Given the description of an element on the screen output the (x, y) to click on. 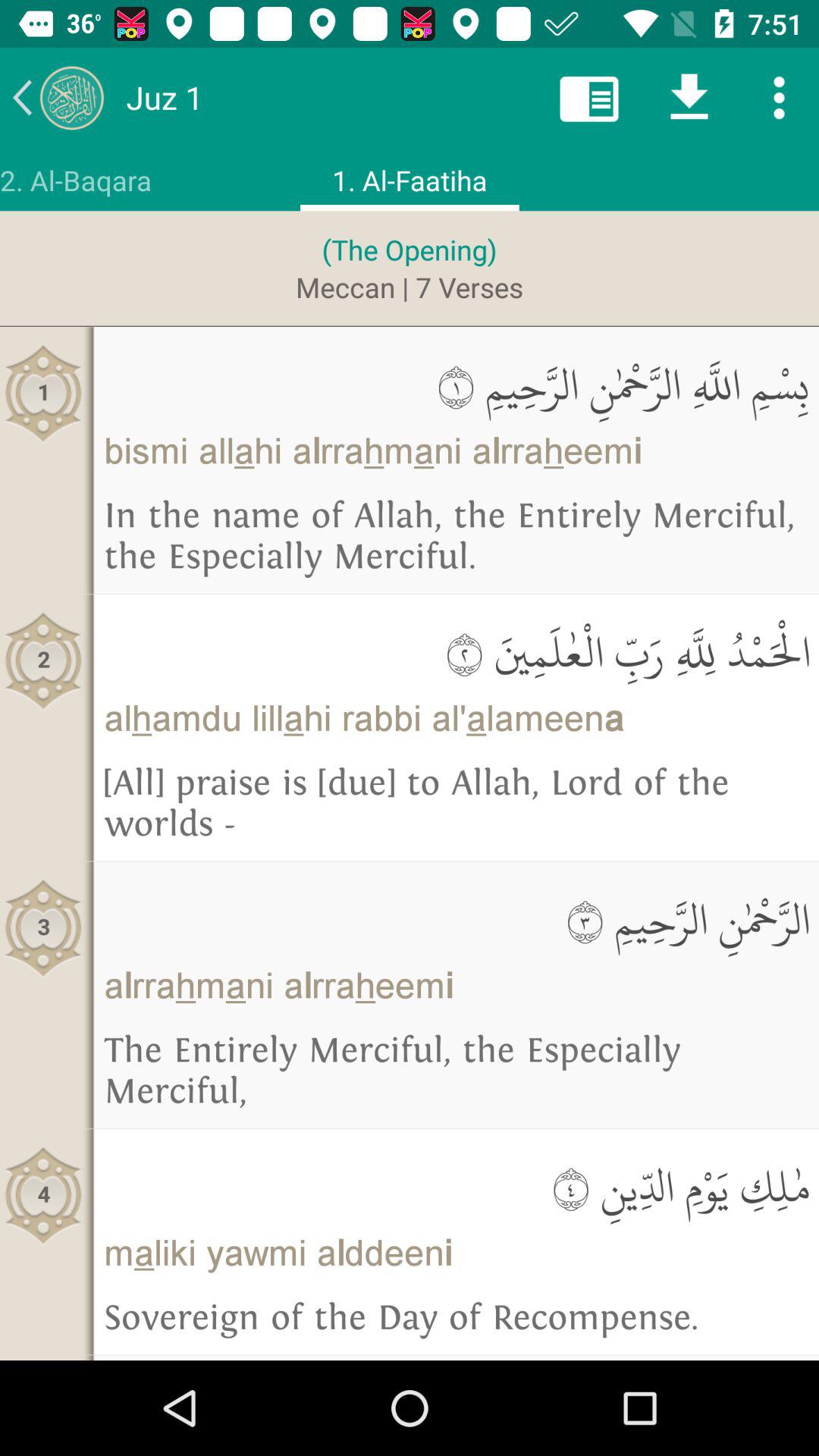
download (689, 97)
